Given the description of an element on the screen output the (x, y) to click on. 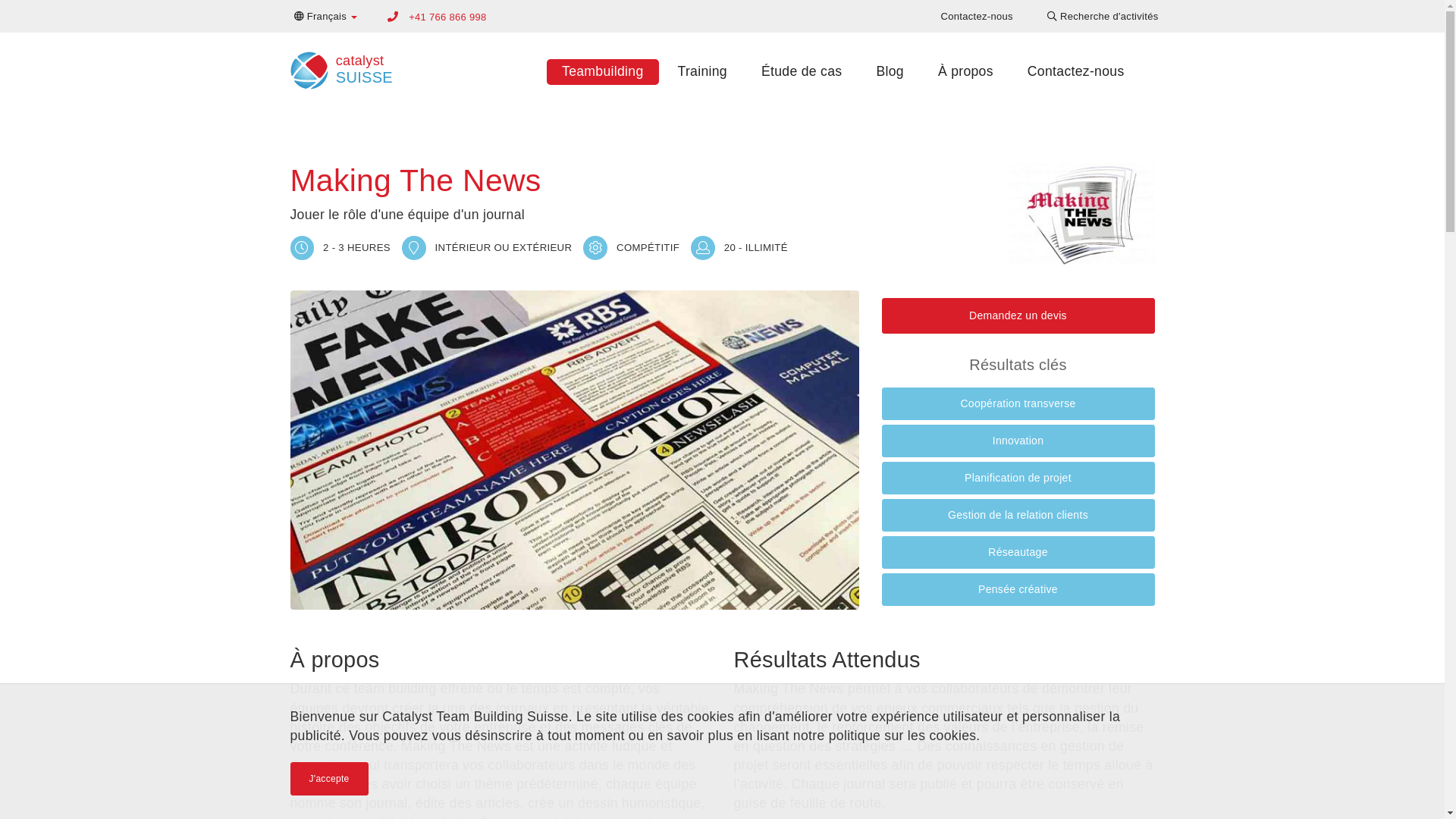
Training Element type: text (702, 71)
catalyst
SUISSE Element type: text (338, 65)
J'accepte Element type: text (328, 778)
Teambuilding Element type: text (602, 71)
Contactez-nous Element type: text (976, 16)
Planification de projet Element type: text (1017, 477)
Blog Element type: text (889, 71)
Gestion de la relation clients Element type: text (1017, 514)
Demandez un devis Element type: text (1017, 315)
+41 766 866 998 Element type: text (447, 16)
Innovation Element type: text (1017, 440)
Contactez-nous Element type: text (1075, 71)
